Given the description of an element on the screen output the (x, y) to click on. 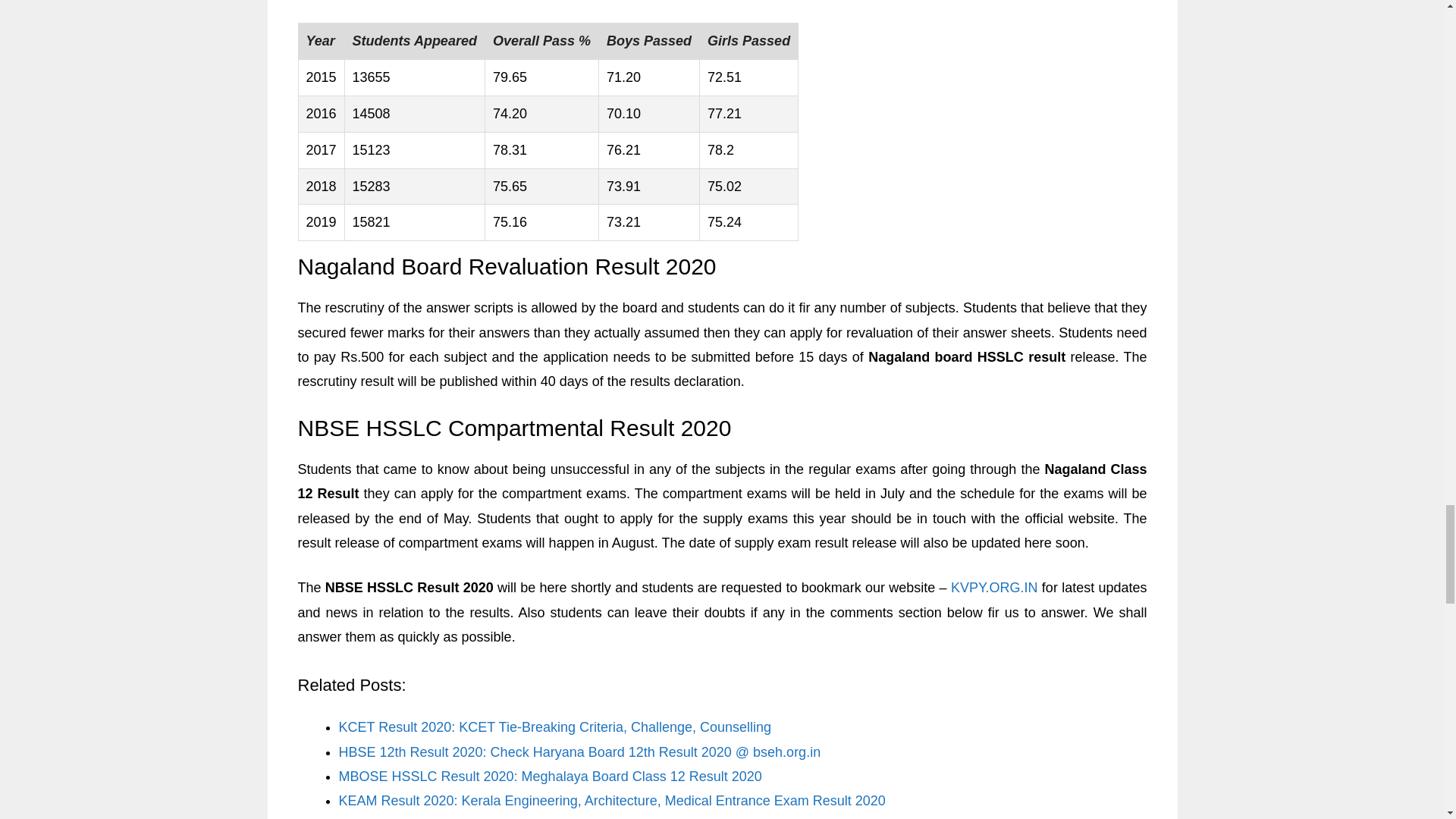
KVPY.ORG.IN (994, 587)
